Given the description of an element on the screen output the (x, y) to click on. 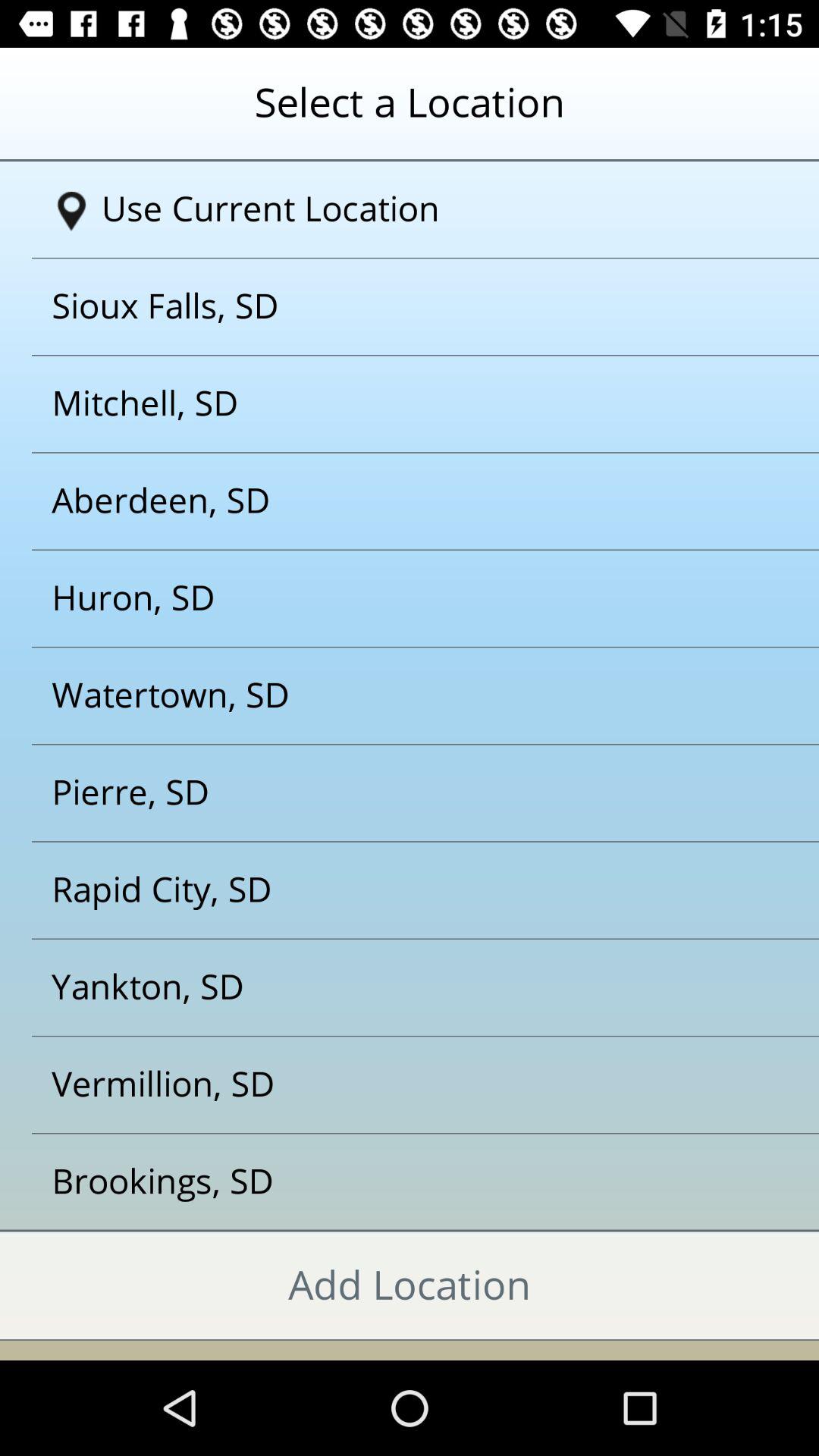
select the text which is immediately below huron sd (390, 695)
select the text aberdeen sd which is in the fourth row (390, 501)
select the icon which is left to use current location (71, 211)
select the text which is under the text select a location (415, 209)
pierre sd (390, 793)
it is clickable (390, 1182)
